Given the description of an element on the screen output the (x, y) to click on. 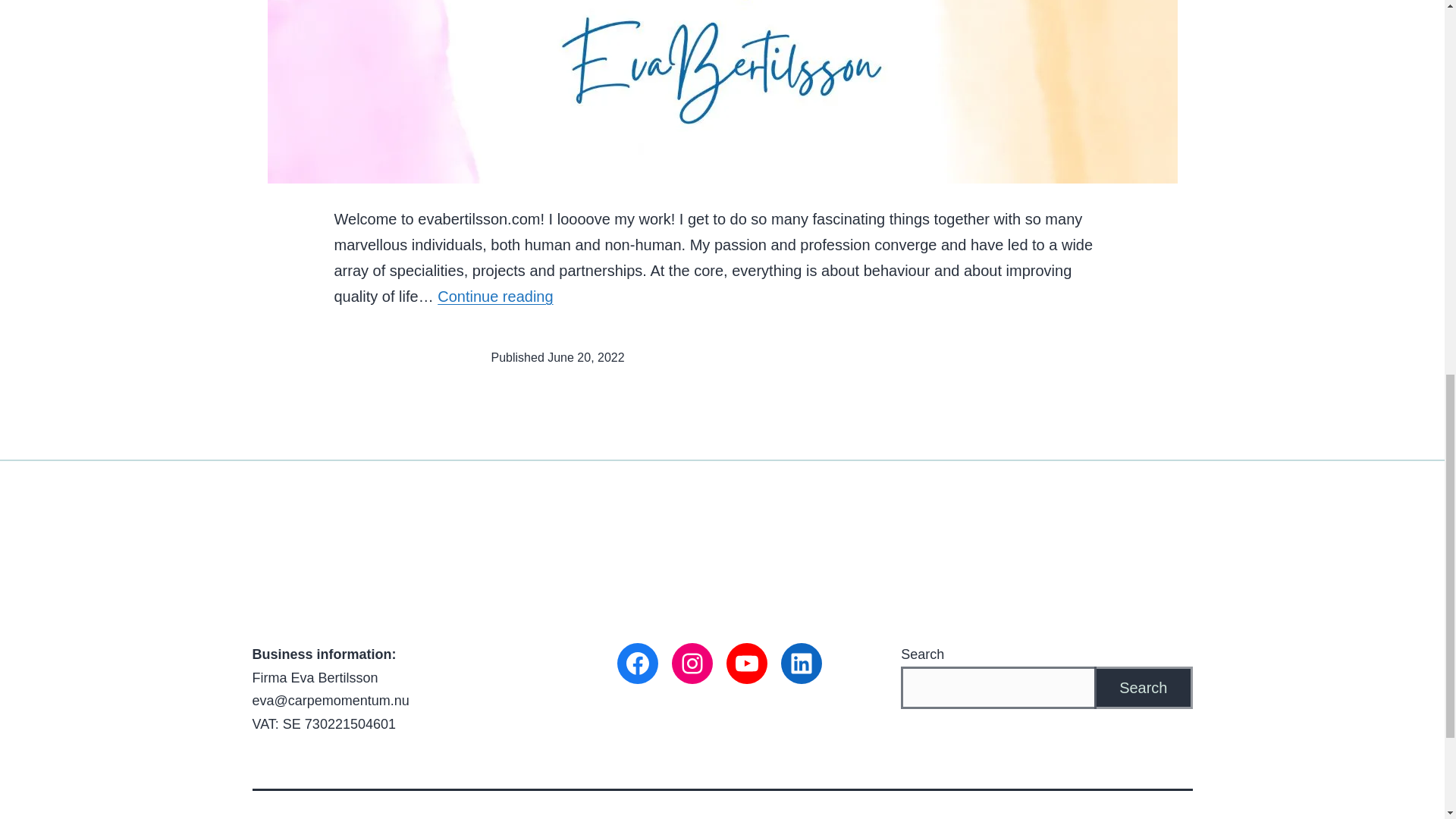
LinkedIn (495, 296)
Instagram (801, 662)
Search (692, 662)
Facebook (1143, 687)
YouTube (637, 662)
